Given the description of an element on the screen output the (x, y) to click on. 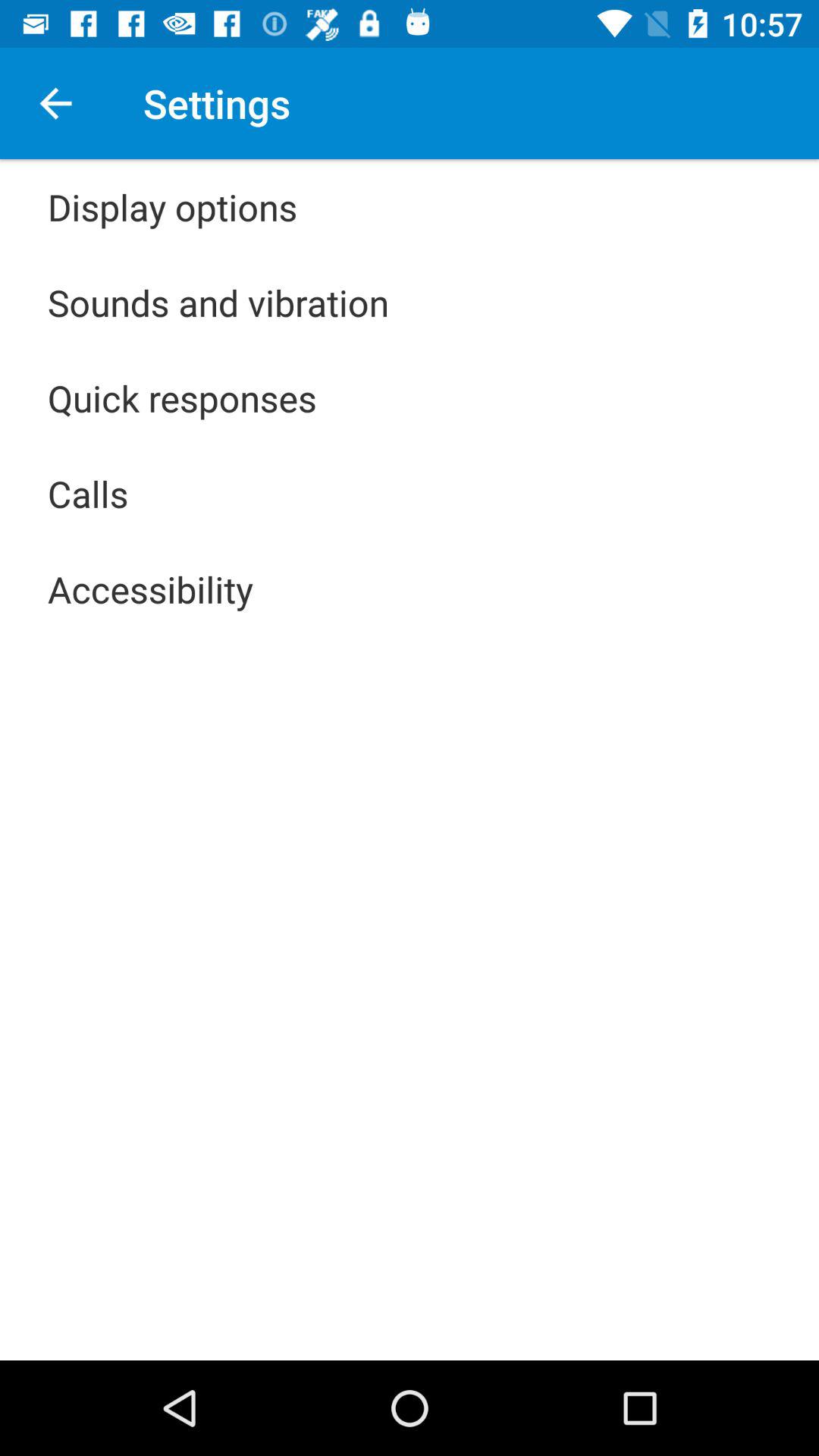
select sounds and vibration icon (218, 302)
